Given the description of an element on the screen output the (x, y) to click on. 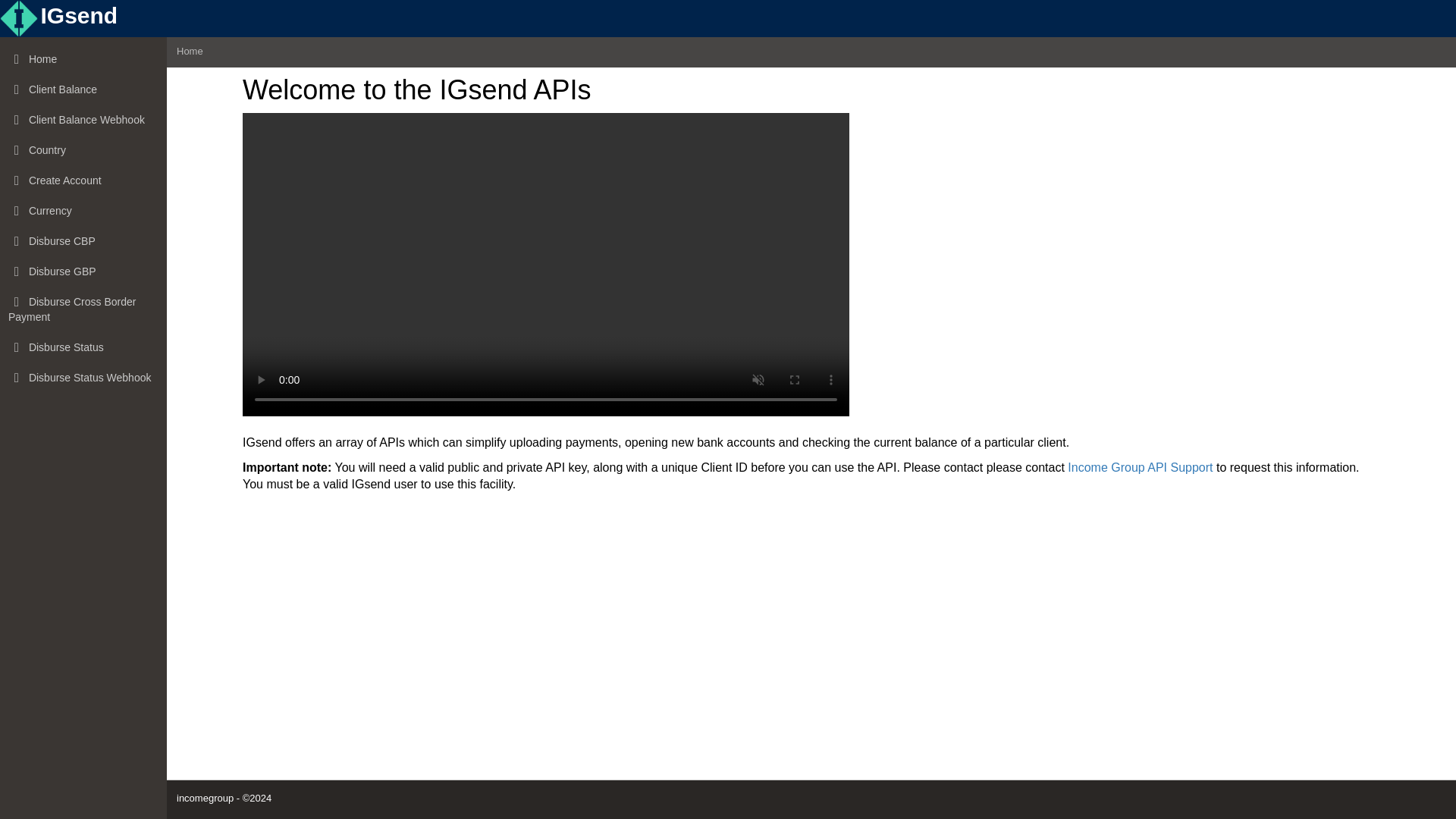
Income Group API Support (1139, 467)
Disburse Status (83, 347)
Client Balance Webhook (83, 120)
Disburse Cross Border Payment (83, 309)
Disburse CBP (83, 241)
Home (83, 60)
Disburse Status Webhook (83, 378)
Create Account (83, 181)
Country (83, 150)
Currency (83, 211)
